Given the description of an element on the screen output the (x, y) to click on. 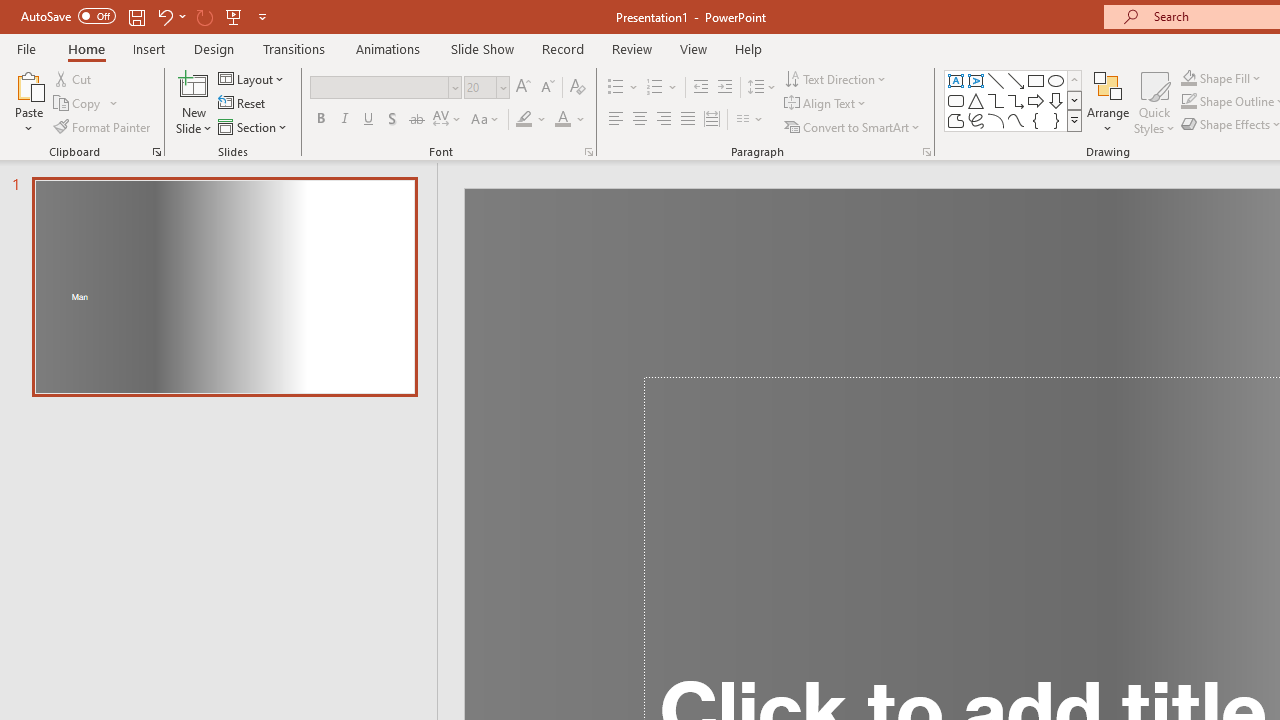
Center (639, 119)
Numbering (654, 87)
Section (254, 126)
Font Size (486, 87)
Vertical Text Box (975, 80)
Cut (73, 78)
More Options (1232, 78)
Freeform: Shape (955, 120)
Text Highlight Color Yellow (524, 119)
Help (748, 48)
Connector: Elbow (995, 100)
Paste (28, 102)
Line Spacing (762, 87)
Font (385, 87)
Home (86, 48)
